Given the description of an element on the screen output the (x, y) to click on. 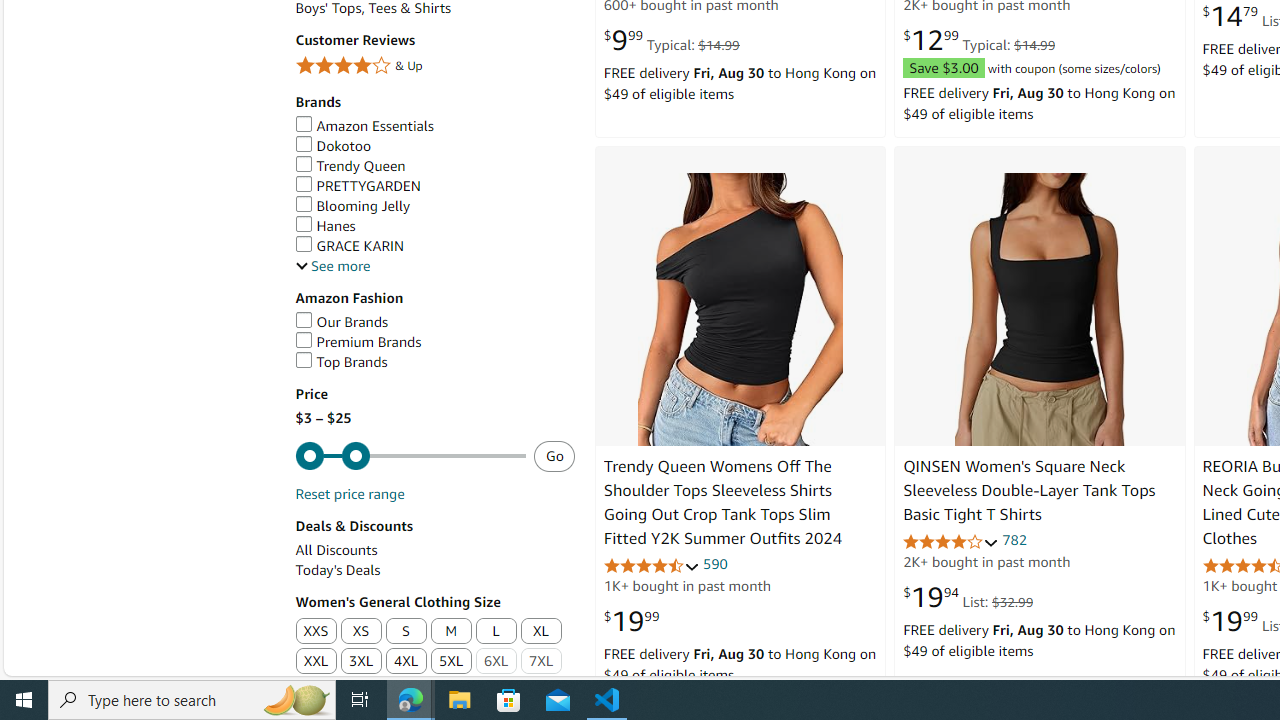
XS (360, 631)
Hanes (434, 226)
4XL (406, 662)
6XL (495, 662)
Maximum (410, 456)
Top Brands (434, 362)
Amazon Essentials (434, 126)
GRACE KARIN (434, 246)
3XL (360, 662)
L (495, 632)
XXS (316, 632)
Today's Deals (434, 570)
6XL (496, 662)
M (451, 632)
590 (715, 563)
